Given the description of an element on the screen output the (x, y) to click on. 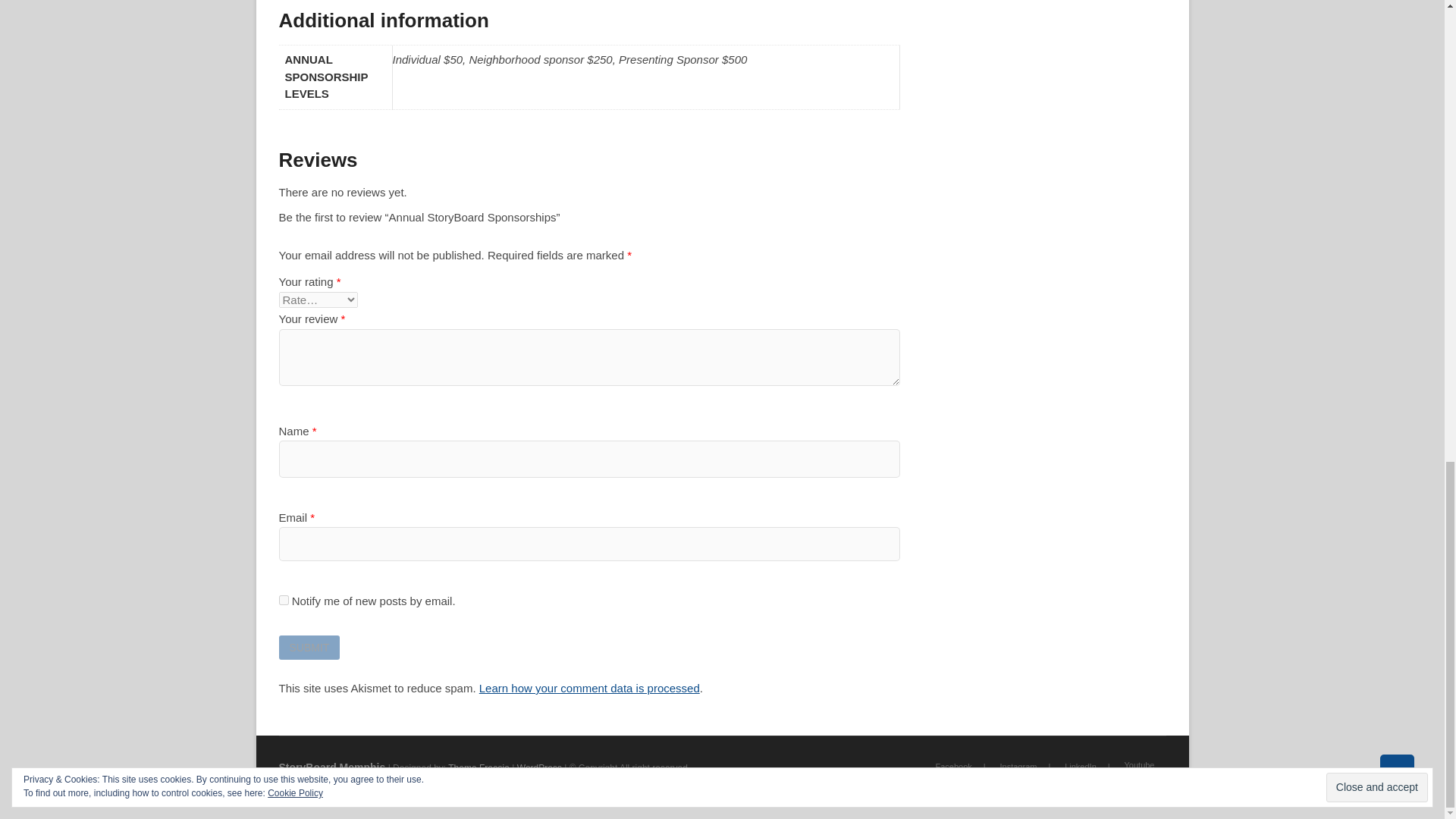
WordPress (539, 767)
Submit (309, 647)
Theme Freesia (478, 767)
subscribe (283, 600)
StoryBoard Memphis (332, 767)
